Given the description of an element on the screen output the (x, y) to click on. 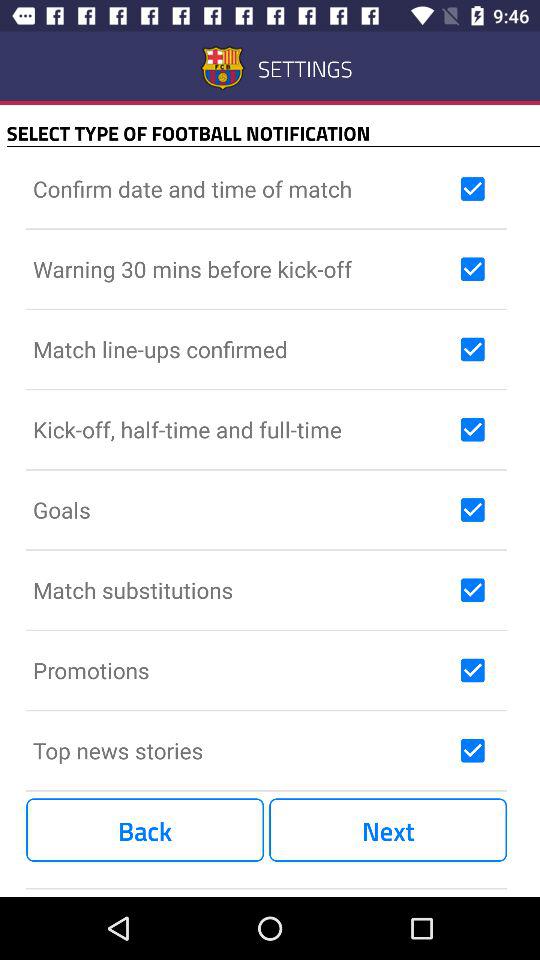
uncheck option (472, 510)
